Given the description of an element on the screen output the (x, y) to click on. 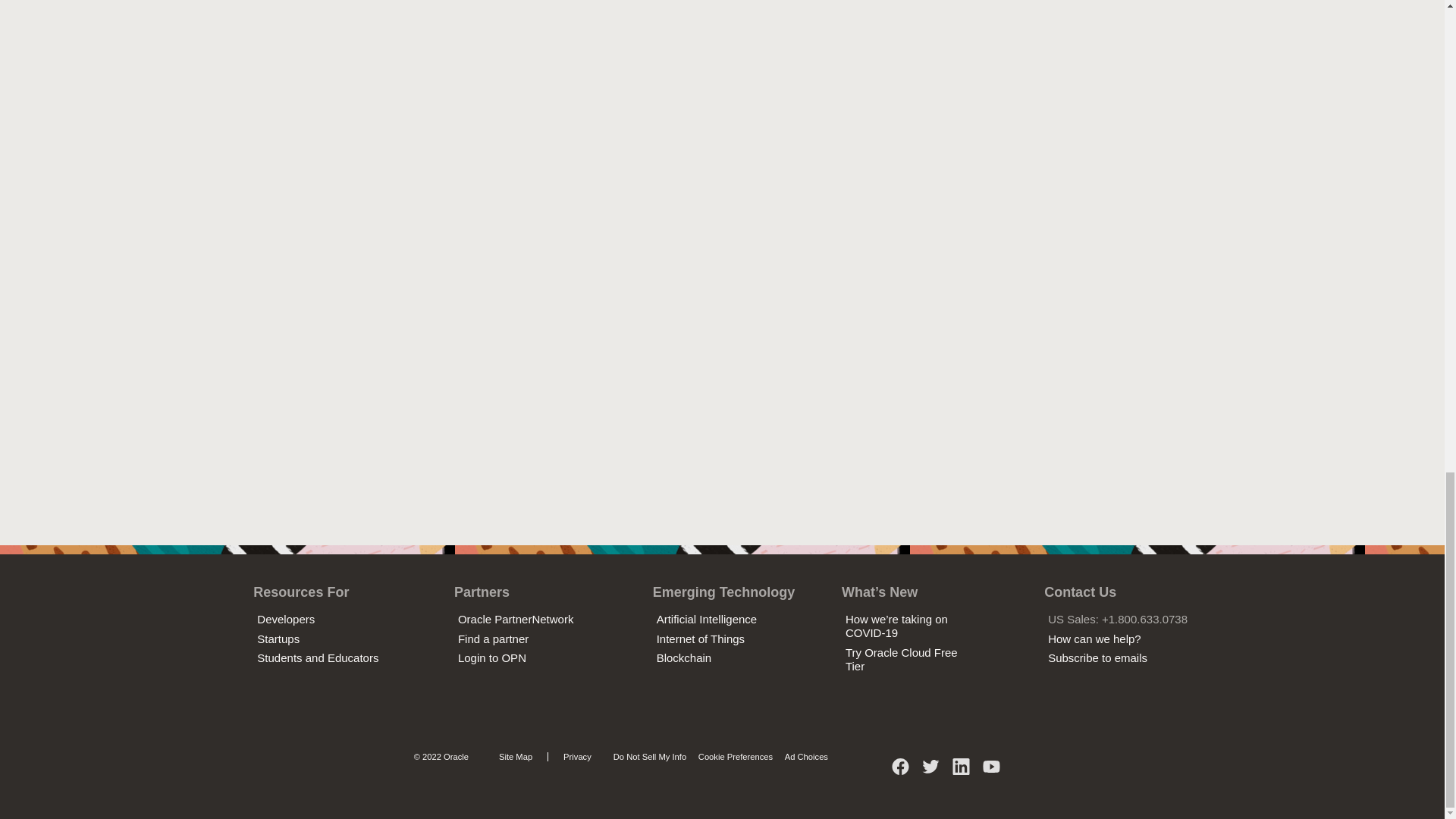
Developers (285, 618)
Artificial Intelligence (706, 618)
Students and Educators (317, 657)
Oracle on LinkedIn (961, 771)
How can we help? (1094, 638)
Login to OPN (491, 657)
Watch Oracle on YouTube (991, 771)
Oracle PartnerNetwork (515, 618)
Blockchain (683, 657)
Follow Oracle on Twitter (931, 771)
Oracle on Facebook (900, 771)
Internet of Things (700, 638)
Startups (278, 638)
Subscribe to emails (1097, 657)
Try Oracle Cloud Free Tier (901, 659)
